Given the description of an element on the screen output the (x, y) to click on. 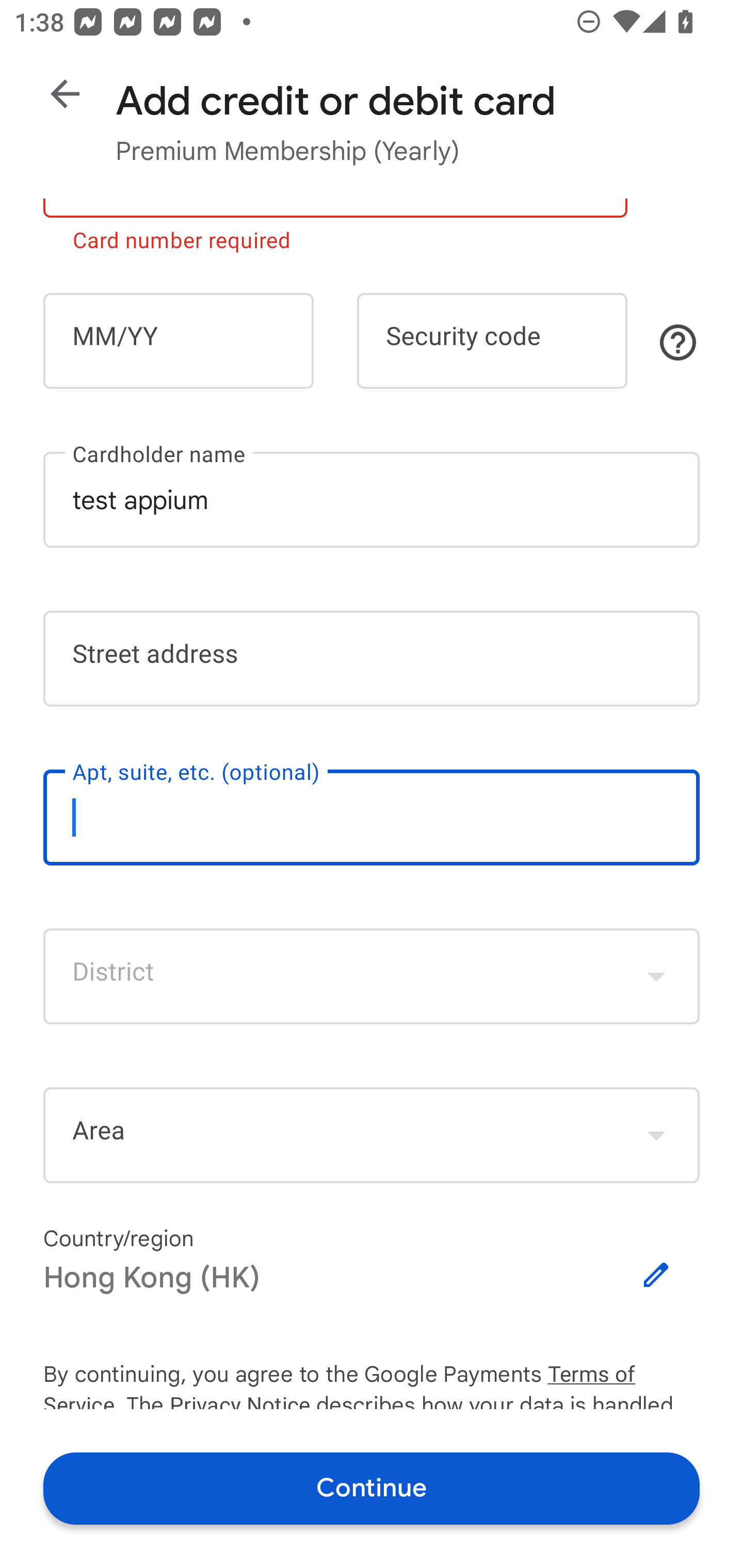
Back (64, 93)
Expiration date, 2 digit month, 2 digit year (178, 340)
Security code (492, 340)
Security code help (677, 342)
test appium (371, 499)
Street address (371, 658)
Apt, suite, etc. (optional) (371, 817)
District (371, 975)
Show dropdown menu (655, 975)
Area (371, 1134)
Show dropdown menu (655, 1135)
country edit button (655, 1275)
Terms of Service (623, 1374)
Privacy Notice (239, 1400)
Continue (371, 1487)
